Given the description of an element on the screen output the (x, y) to click on. 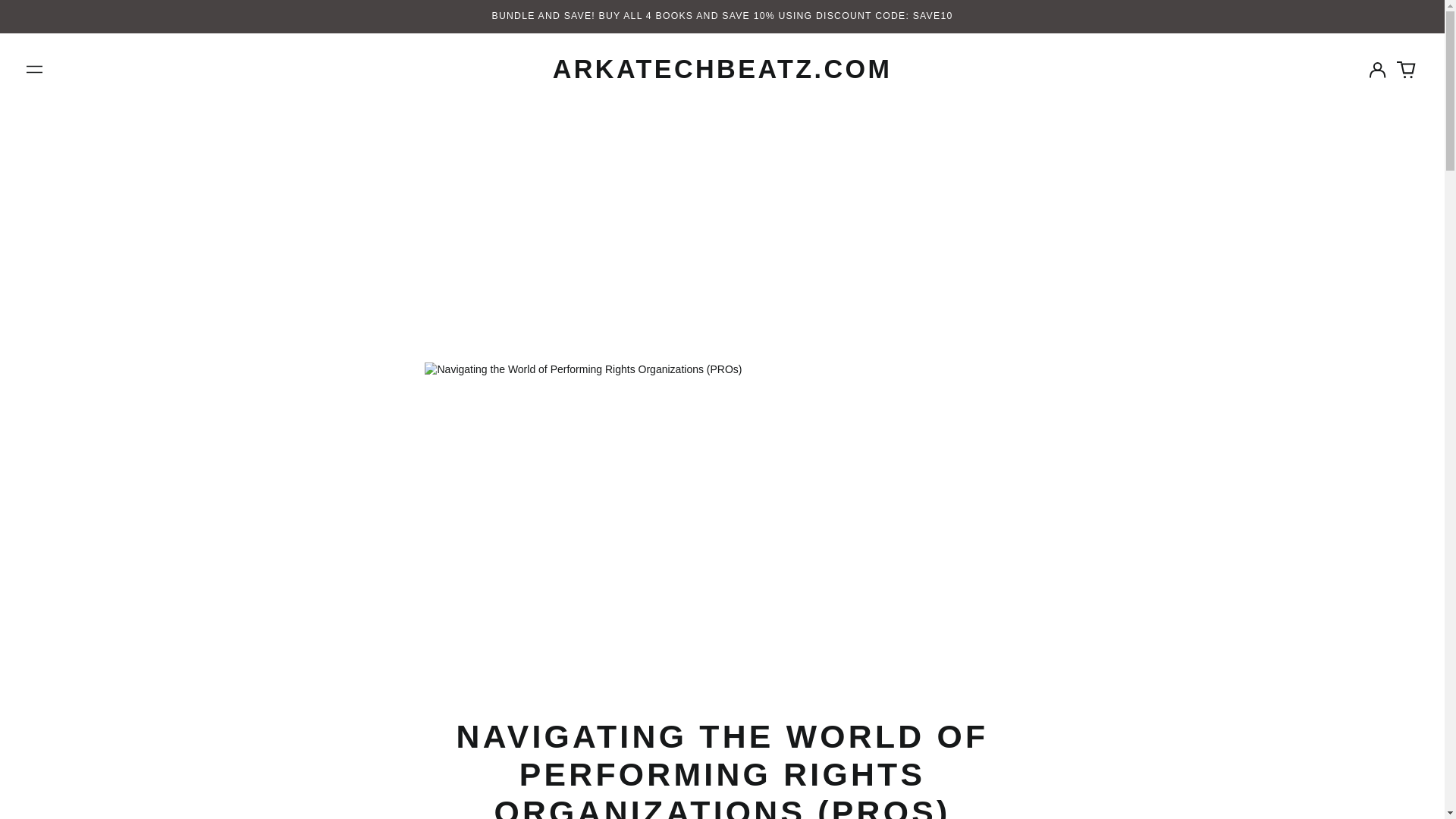
0 items (1406, 69)
Menu (34, 69)
Log in (1377, 69)
ARKATECHBEATZ.COM (722, 68)
